Given the description of an element on the screen output the (x, y) to click on. 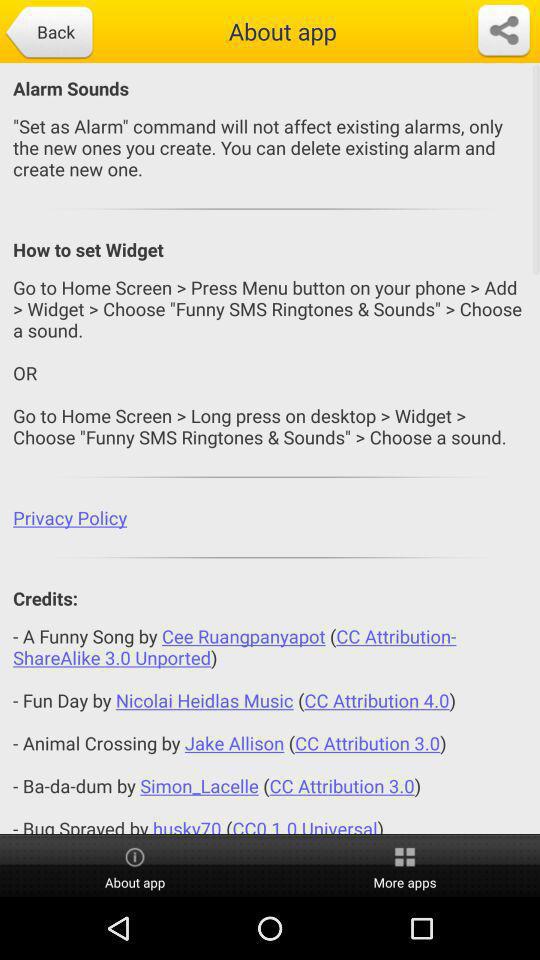
select the icon to the right of the about app item (503, 31)
